Given the description of an element on the screen output the (x, y) to click on. 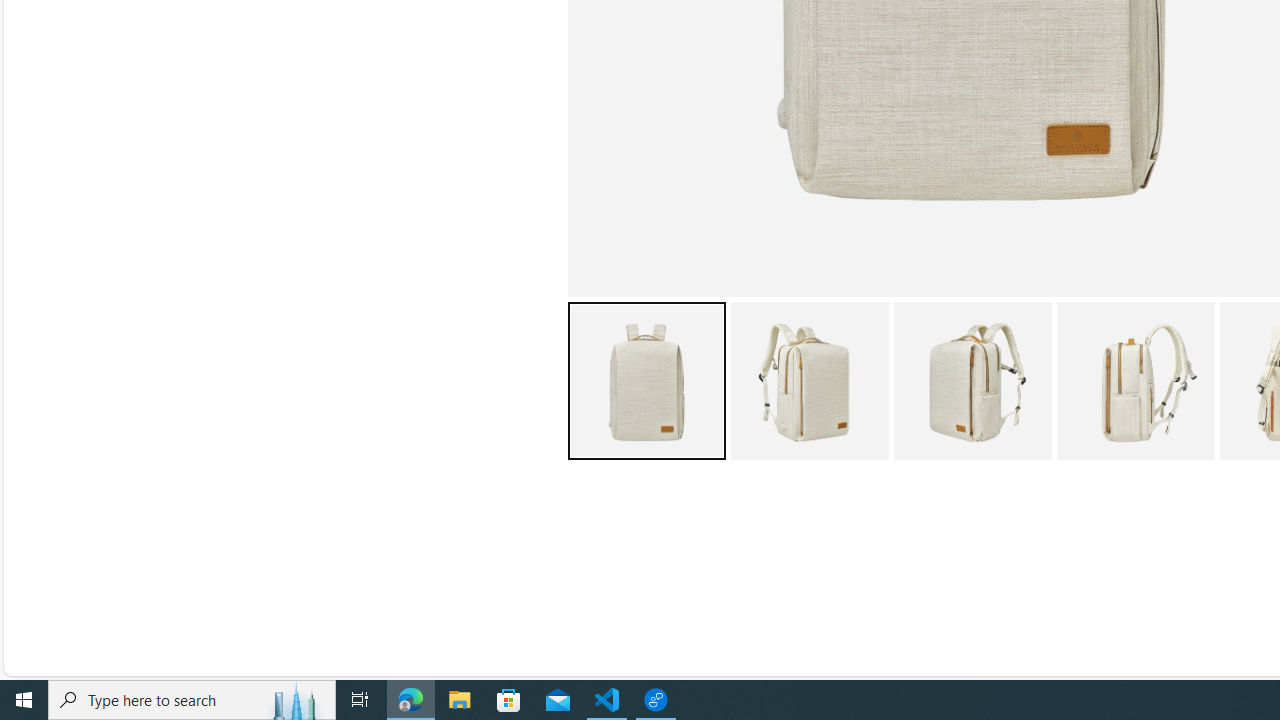
Nordace Siena Pro 15 Backpack (1135, 380)
